Given the description of an element on the screen output the (x, y) to click on. 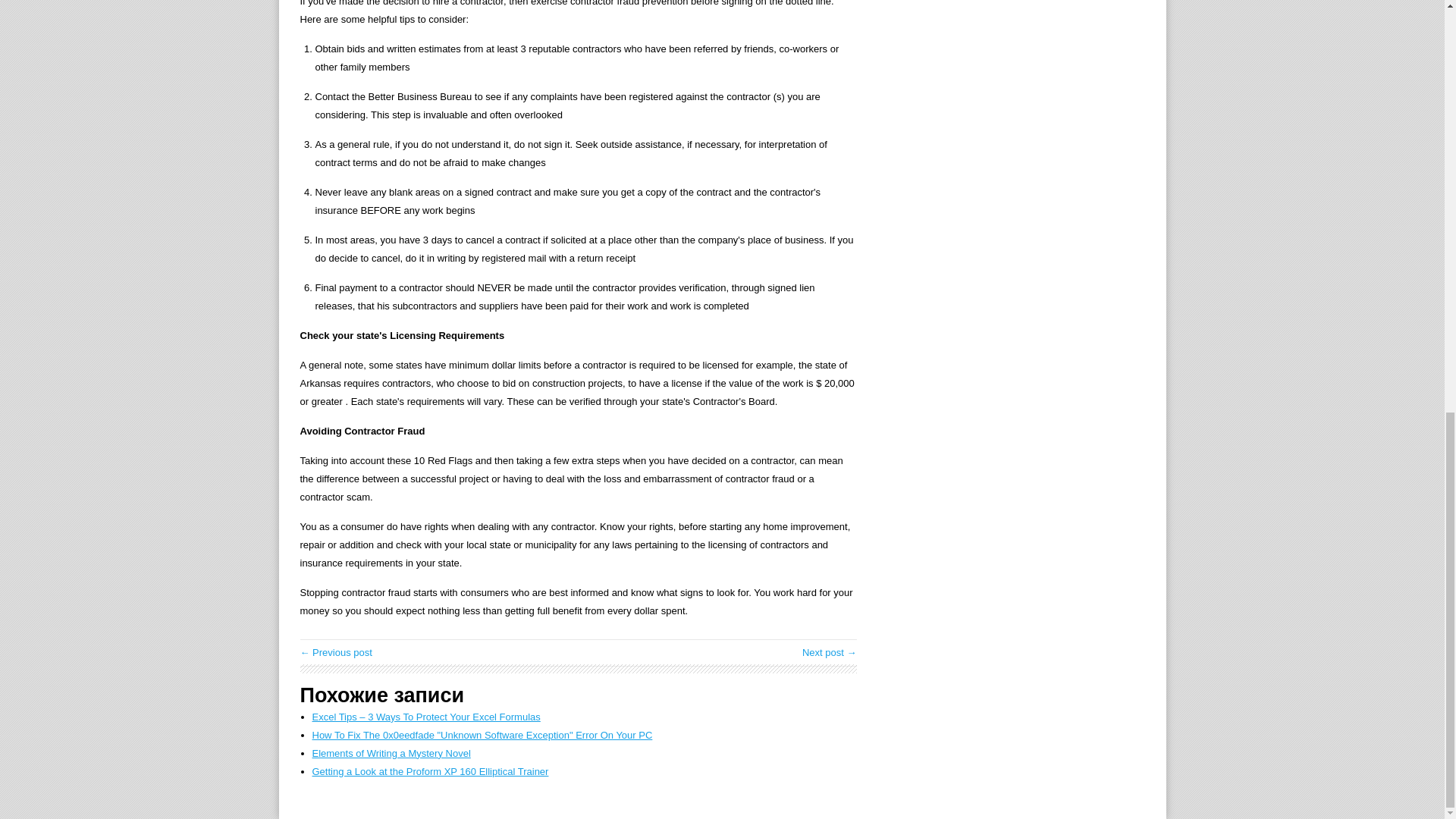
Elements of Writing a Mystery Novel (391, 753)
Getting a Look at the Proform XP 160 Elliptical Trainer (430, 771)
The Front Porch "Is this the answer?" (829, 652)
Stainless Steel Sheet (335, 652)
